Given the description of an element on the screen output the (x, y) to click on. 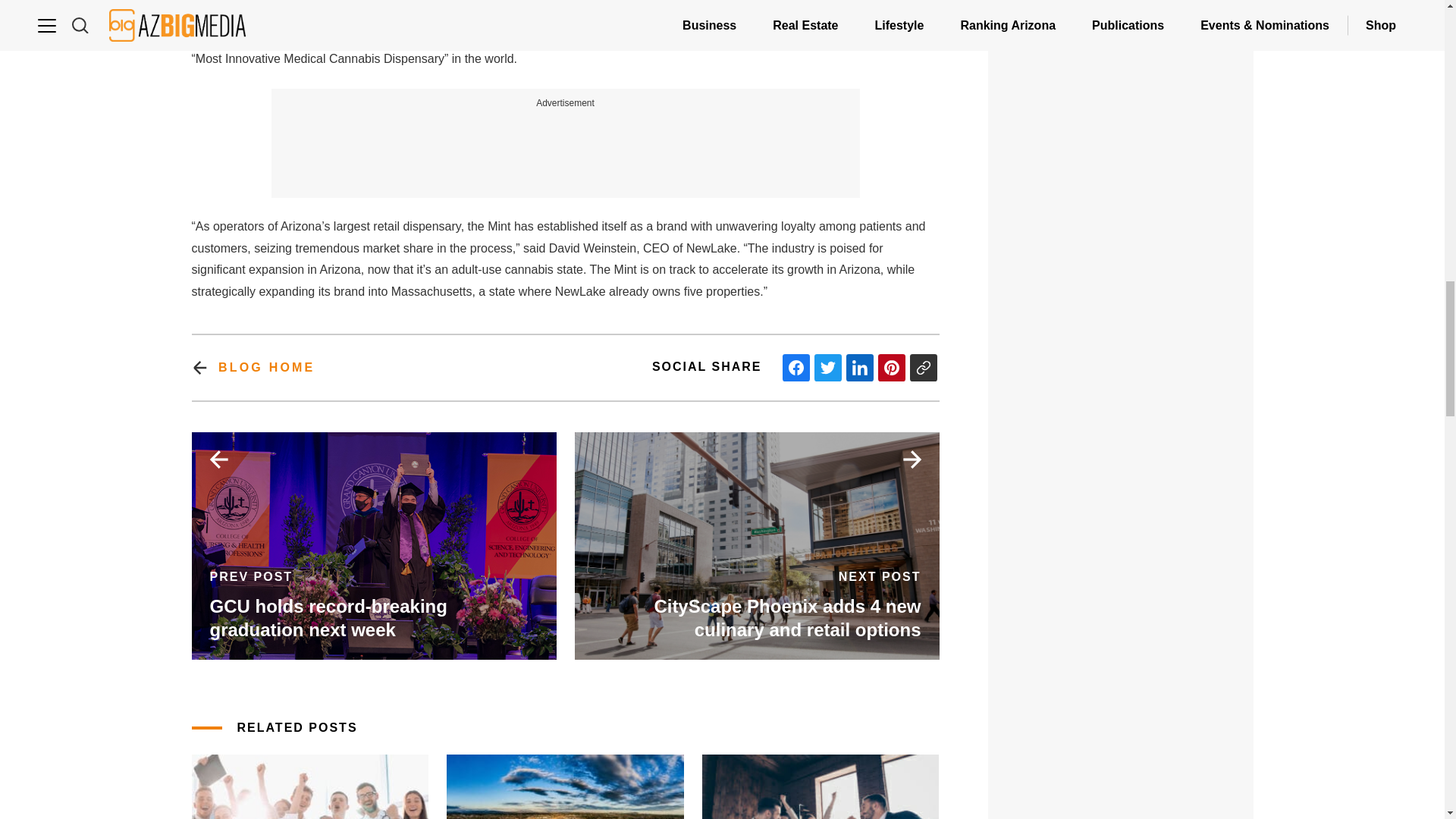
3rd party ad content (1120, 4)
3rd party ad content (565, 145)
3rd party ad content (1120, 542)
